Given the description of an element on the screen output the (x, y) to click on. 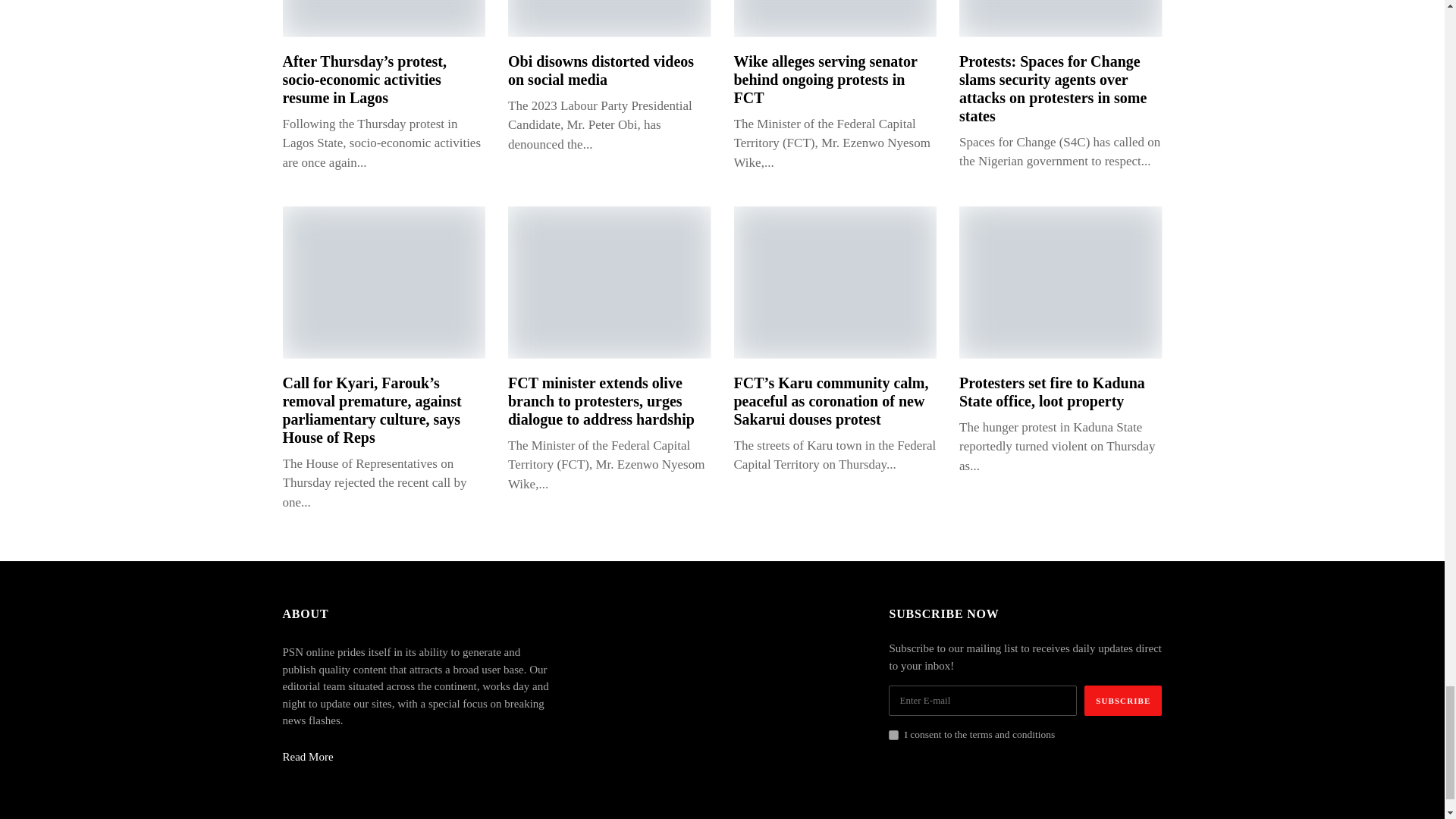
Subscribe (1122, 700)
1 (893, 735)
